Given the description of an element on the screen output the (x, y) to click on. 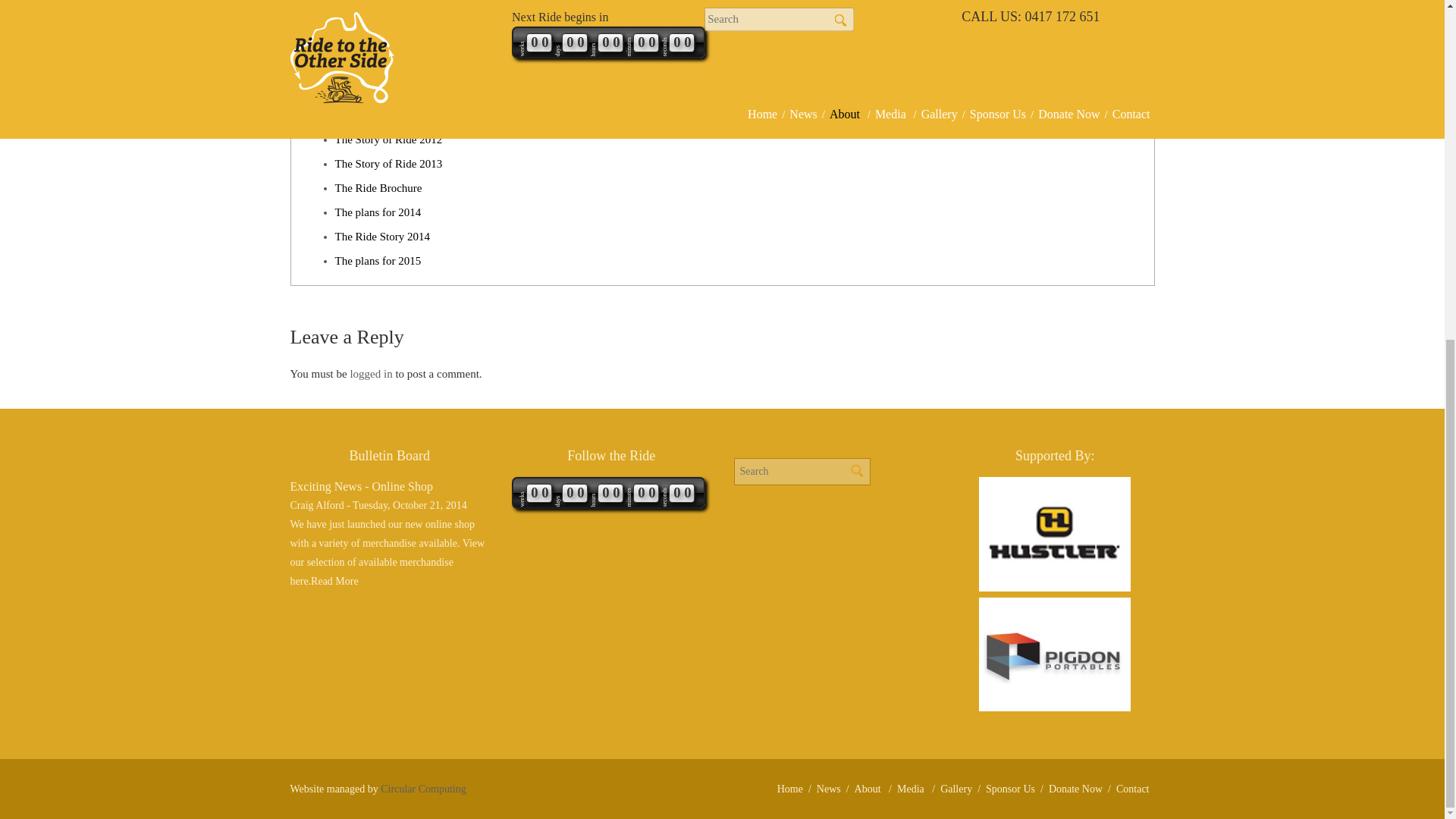
Search (856, 470)
Download PDF for the 2015 Ride NSW to Darwin (378, 260)
